Given the description of an element on the screen output the (x, y) to click on. 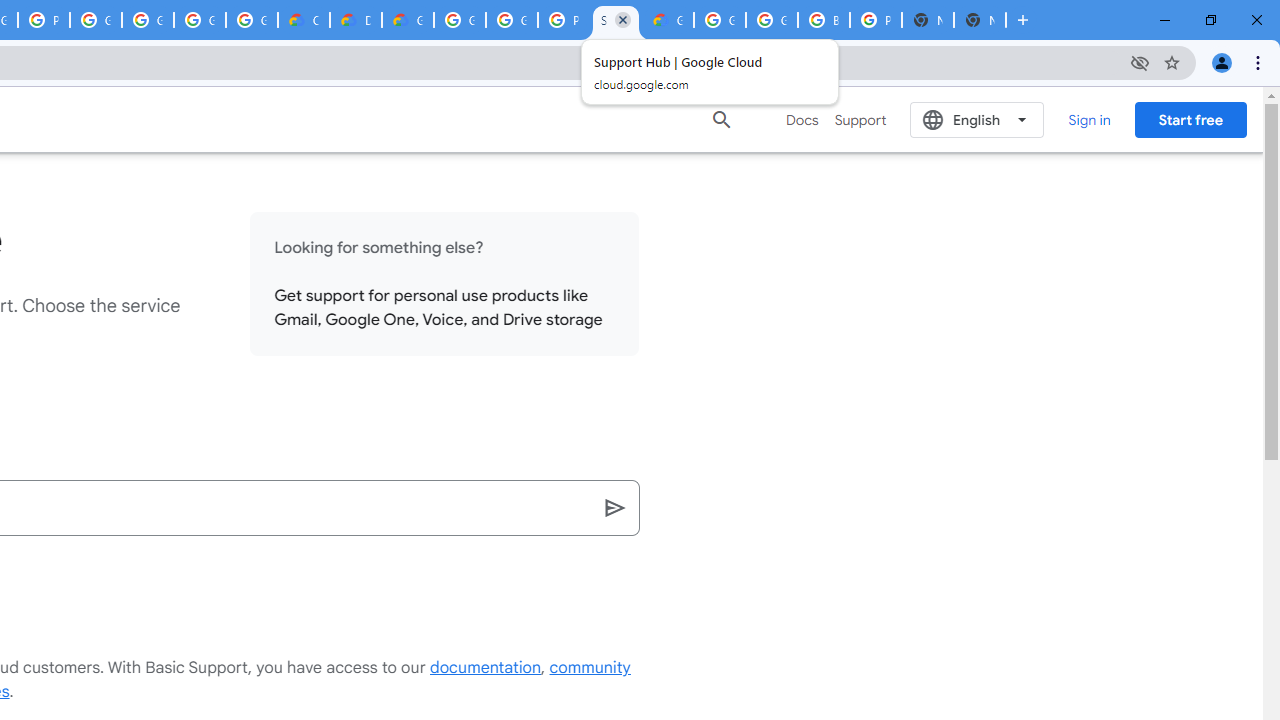
Start free (1190, 119)
Google Workspace - Specific Terms (200, 20)
